Given the description of an element on the screen output the (x, y) to click on. 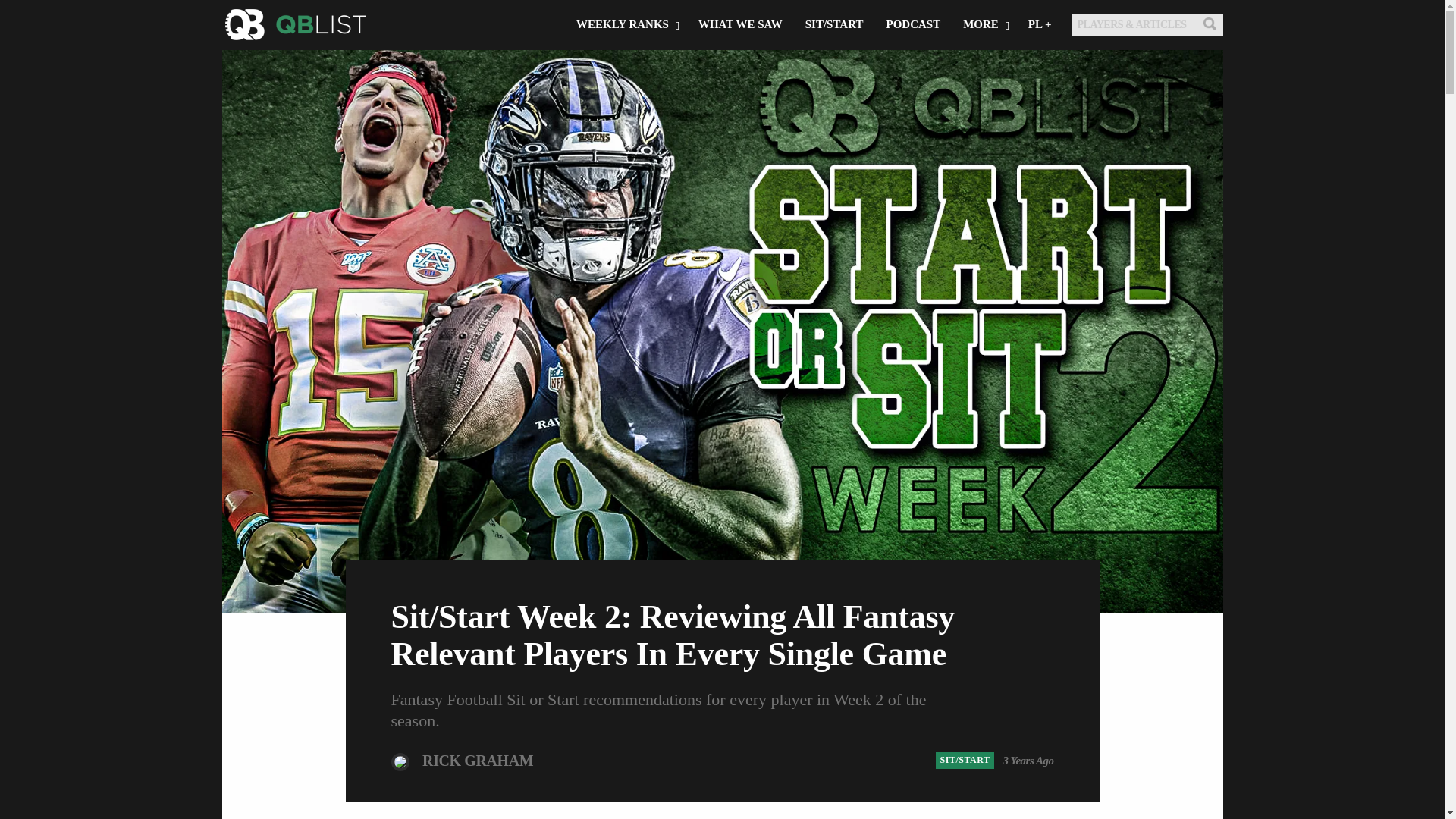
WHAT WE SAW (740, 24)
MORE (984, 24)
RICK GRAHAM (477, 760)
PODCAST (913, 24)
